Given the description of an element on the screen output the (x, y) to click on. 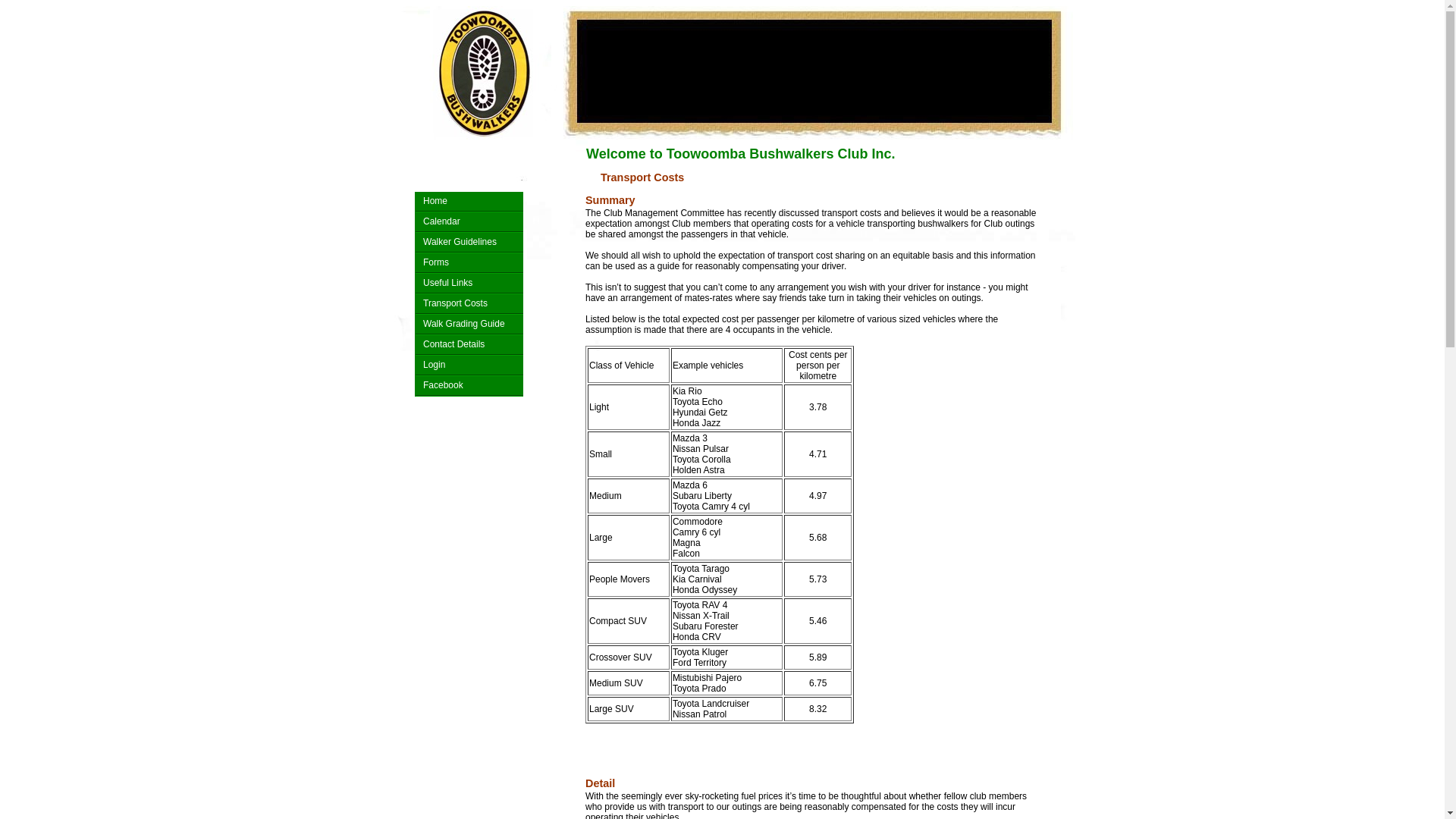
Useful Links Element type: text (469, 283)
Home Element type: text (469, 201)
Walk Grading Guide Element type: text (469, 324)
Forms Element type: text (469, 263)
Calendar Element type: text (469, 222)
Transport Costs Element type: text (469, 304)
Contact Details Element type: text (469, 345)
Walker Guidelines Element type: text (469, 242)
Facebook Element type: text (469, 386)
Login Element type: text (469, 365)
